Given the description of an element on the screen output the (x, y) to click on. 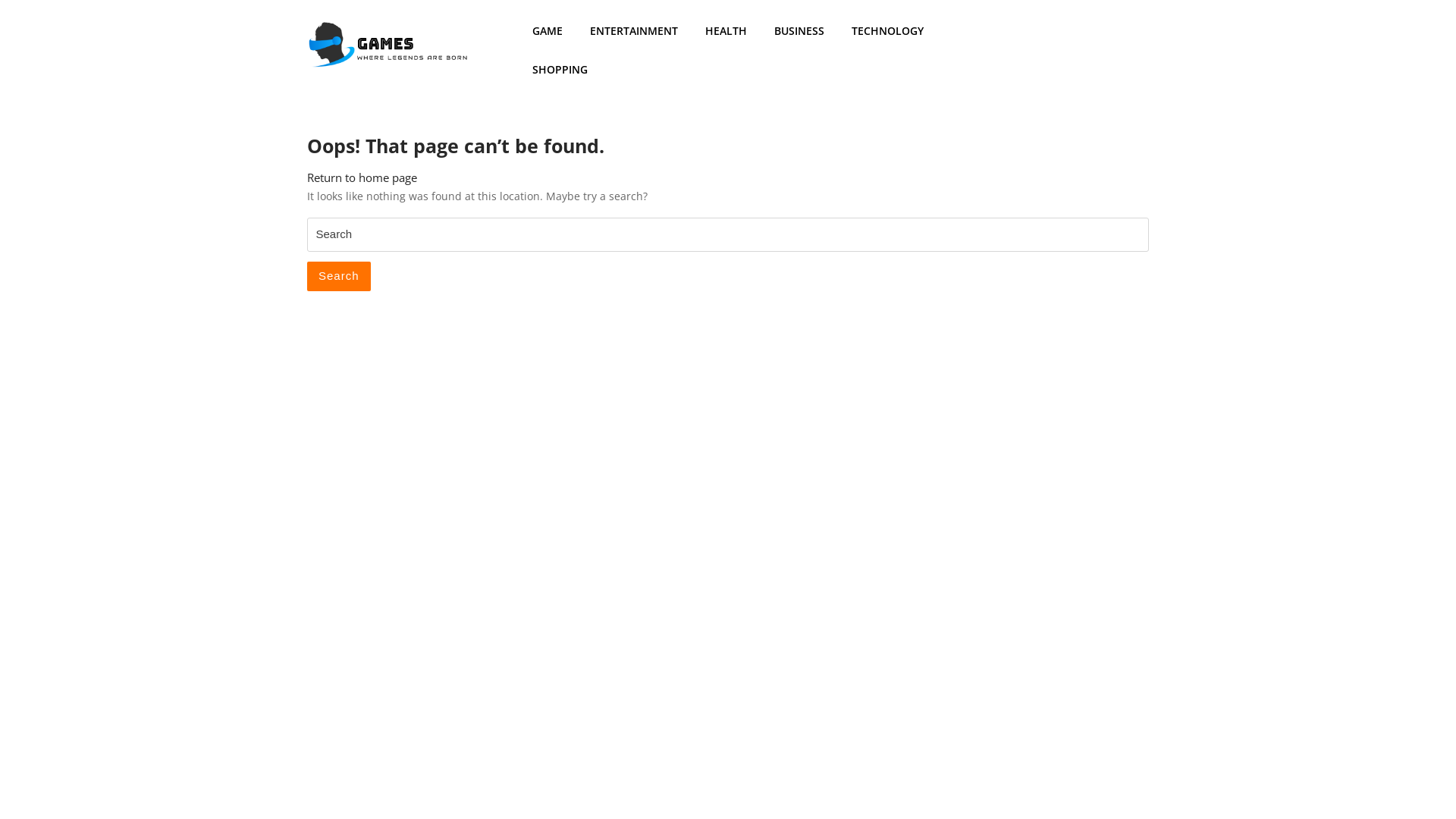
Return to home page Element type: text (362, 177)
GAME Element type: text (550, 30)
ENTERTAINMENT Element type: text (636, 30)
SHOPPING Element type: text (562, 69)
Search Element type: text (338, 276)
BUSINESS Element type: text (802, 30)
TECHNOLOGY Element type: text (890, 30)
HEALTH Element type: text (729, 30)
